Given the description of an element on the screen output the (x, y) to click on. 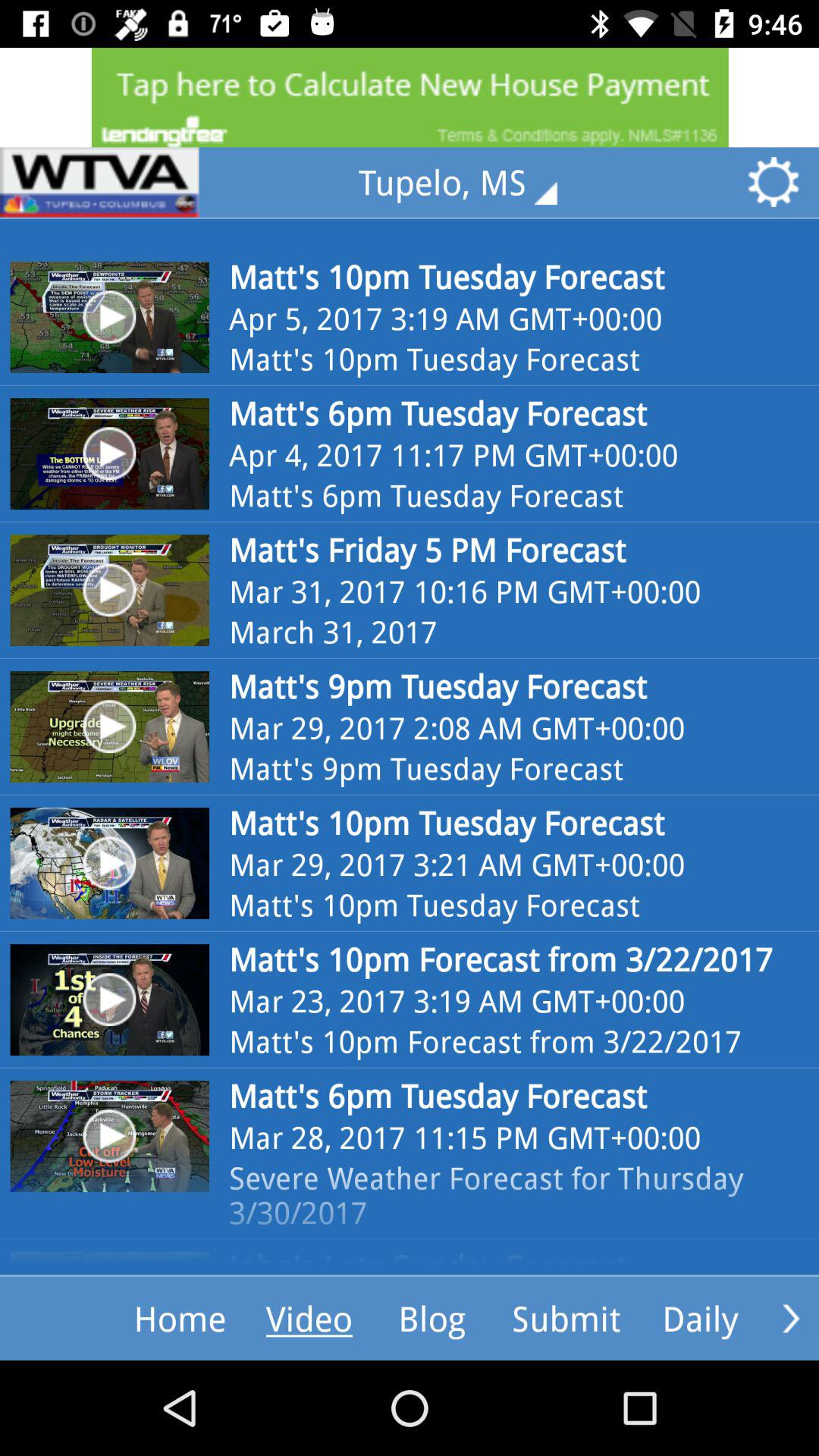
go to home (99, 182)
